Given the description of an element on the screen output the (x, y) to click on. 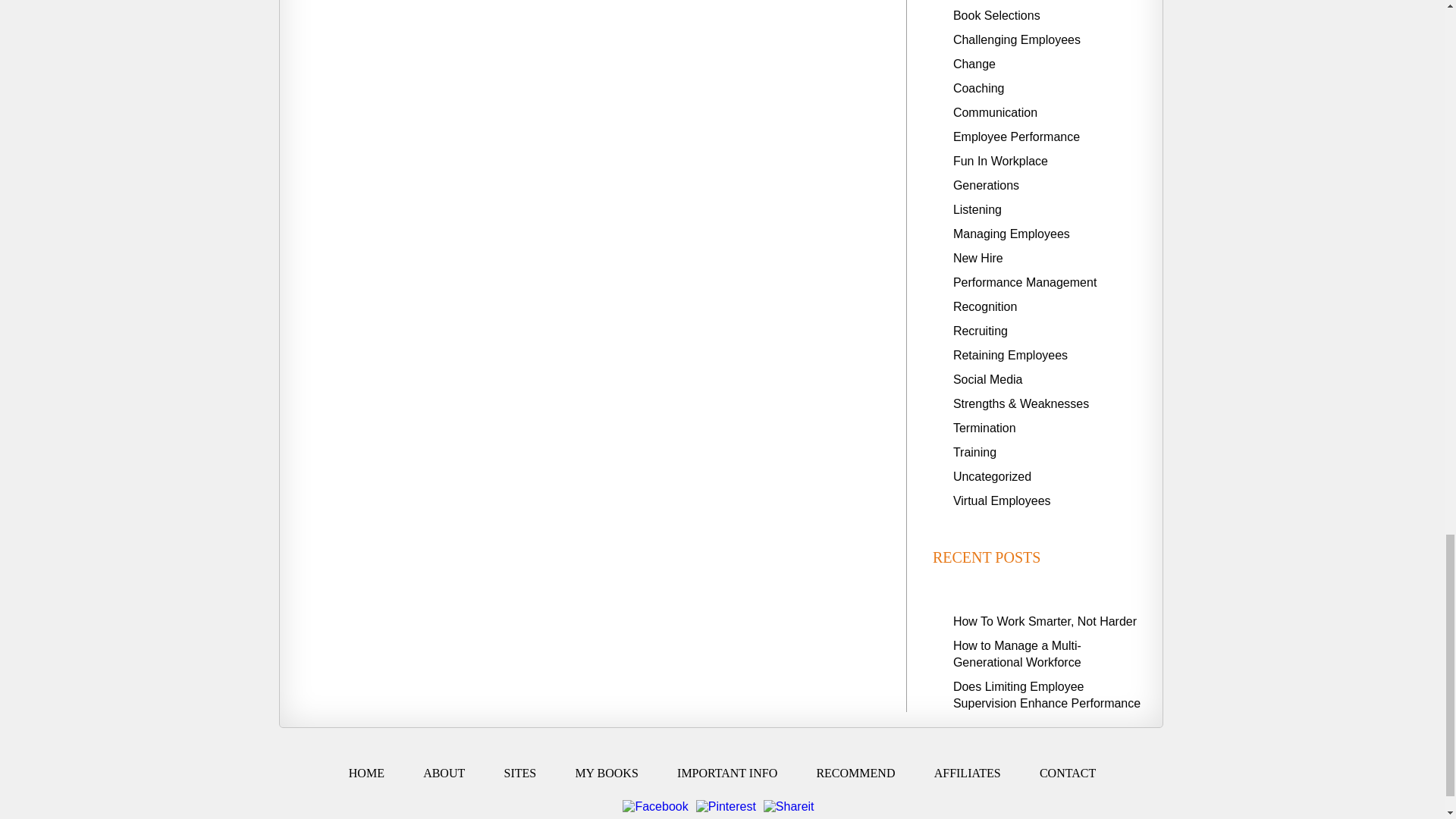
Recruiting (980, 330)
Challenging Employees (1016, 39)
Coaching (978, 88)
Performance Management (1024, 282)
Communication (994, 112)
Employee Performance (1016, 136)
Managing Employees (1011, 233)
Social Media (988, 379)
Listening (977, 209)
Retaining Employees (1010, 354)
